Given the description of an element on the screen output the (x, y) to click on. 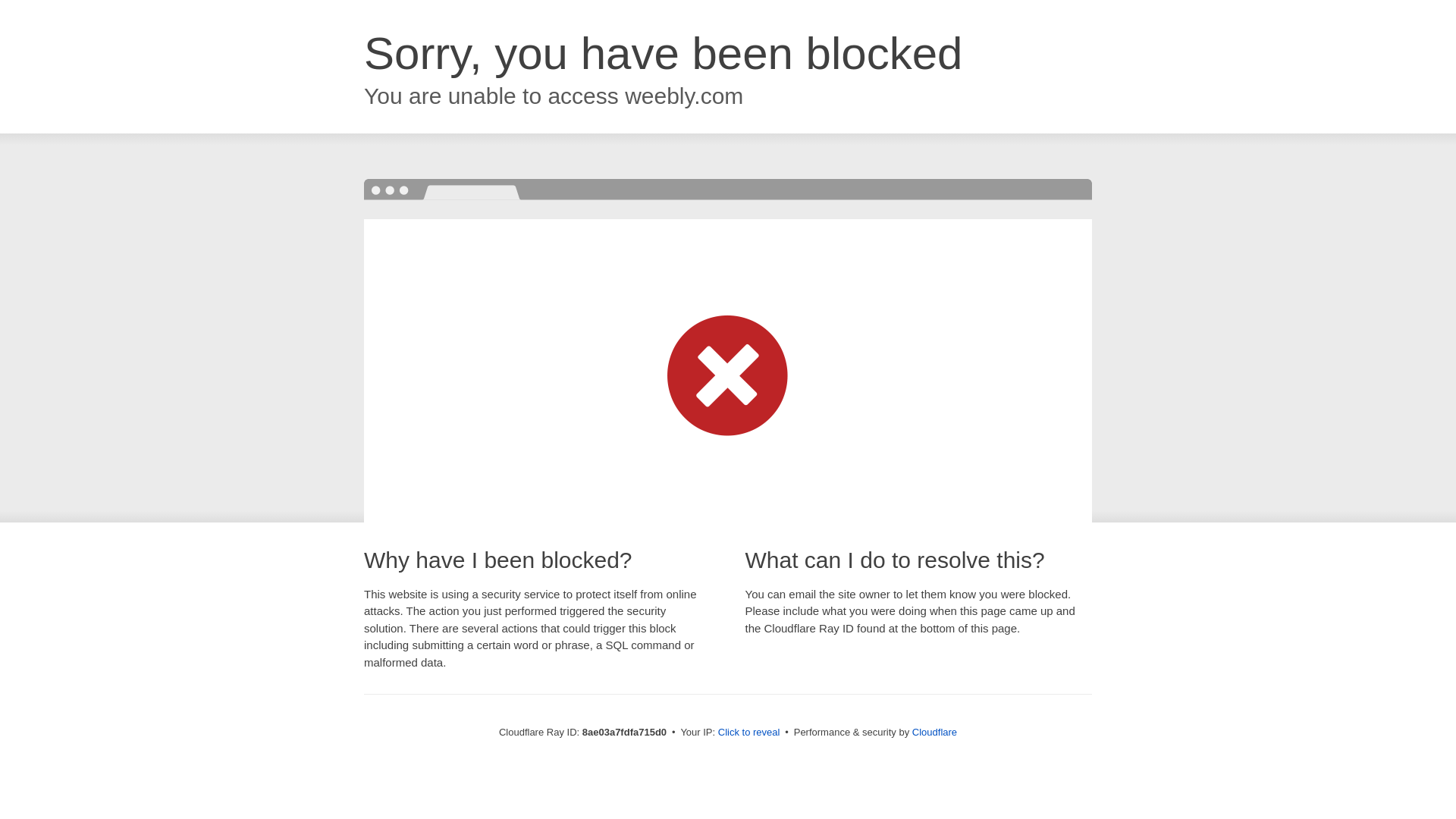
Click to reveal (748, 732)
Cloudflare (934, 731)
